Given the description of an element on the screen output the (x, y) to click on. 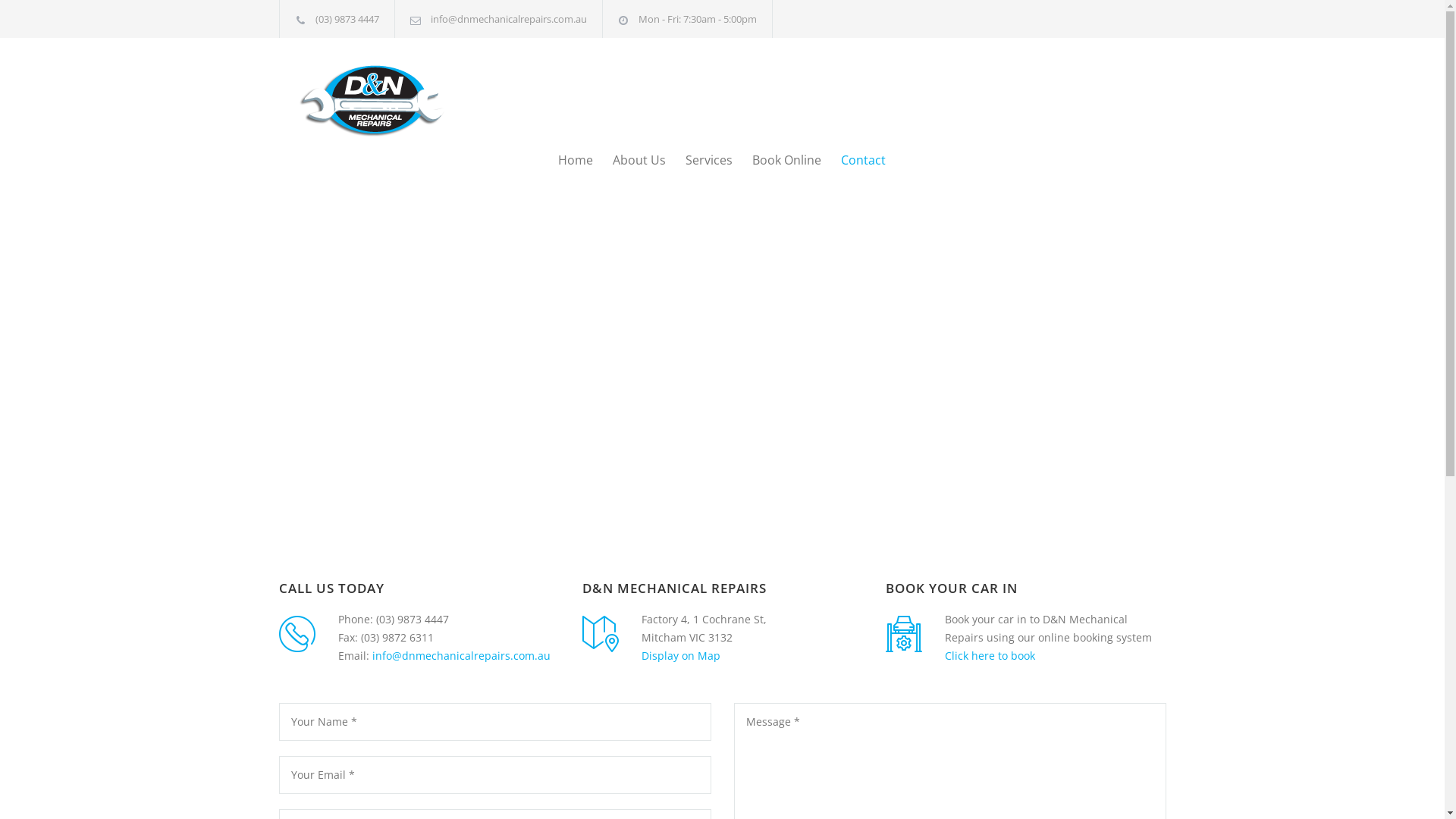
info@dnmechanicalrepairs.com.au Element type: text (508, 18)
Display on Map Element type: text (680, 655)
D&N Mechanical Repairs Element type: hover (419, 99)
Click here to book Element type: text (989, 655)
About Us Element type: text (629, 159)
Home Element type: text (575, 159)
info@dnmechanicalrepairs.com.au Element type: text (460, 655)
Book Online Element type: text (776, 159)
Services Element type: text (698, 159)
Contact Element type: text (852, 159)
